Given the description of an element on the screen output the (x, y) to click on. 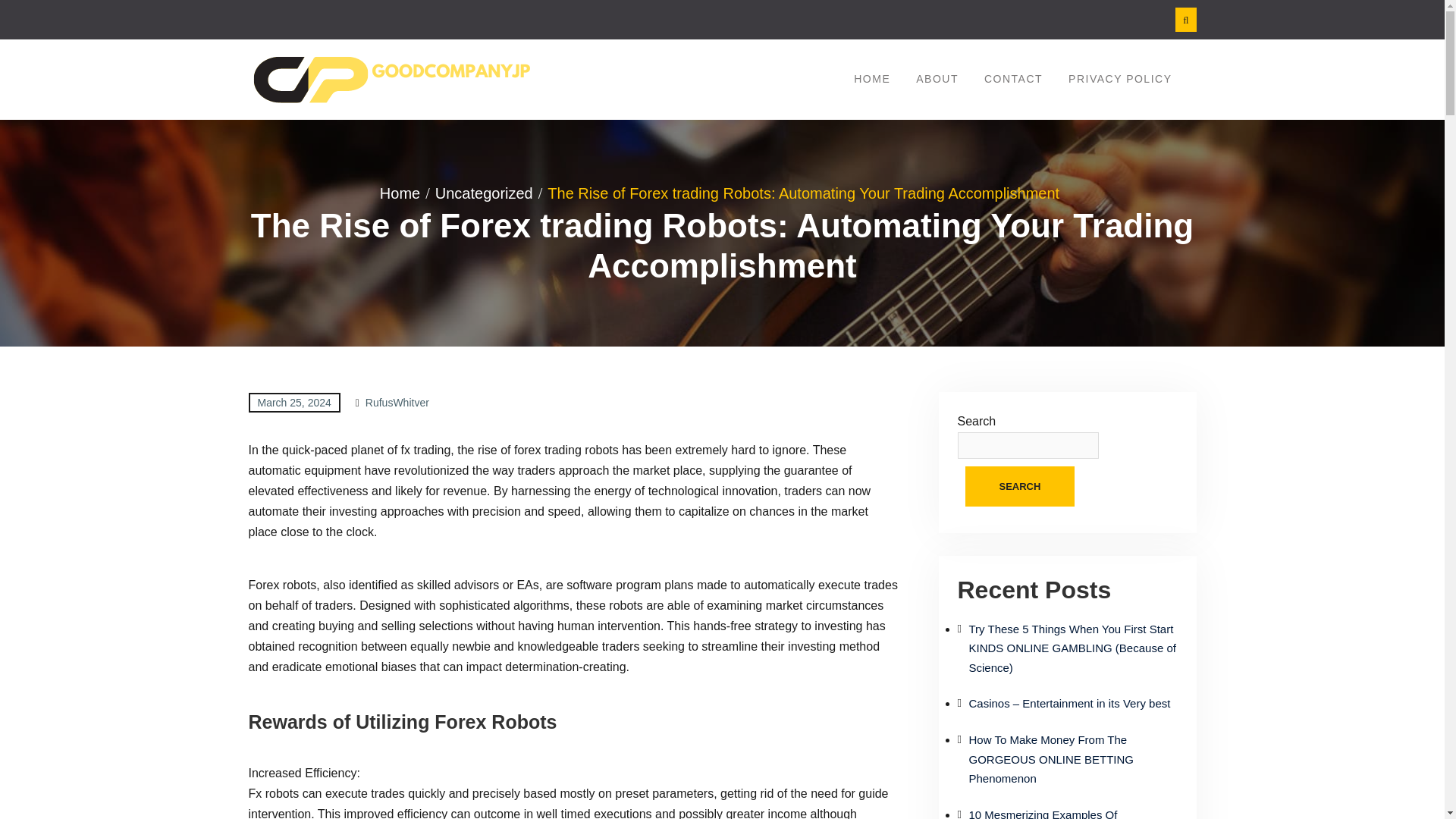
Uncategorized (489, 193)
SEARCH (1018, 486)
10 Mesmerizing Examples Of IMPORTANCE ONLINE BETTING (1055, 813)
PRIVACY POLICY (1119, 79)
Home (404, 193)
RufusWhitver (397, 402)
CONTACT (1012, 79)
March 25, 2024 (294, 402)
